Given the description of an element on the screen output the (x, y) to click on. 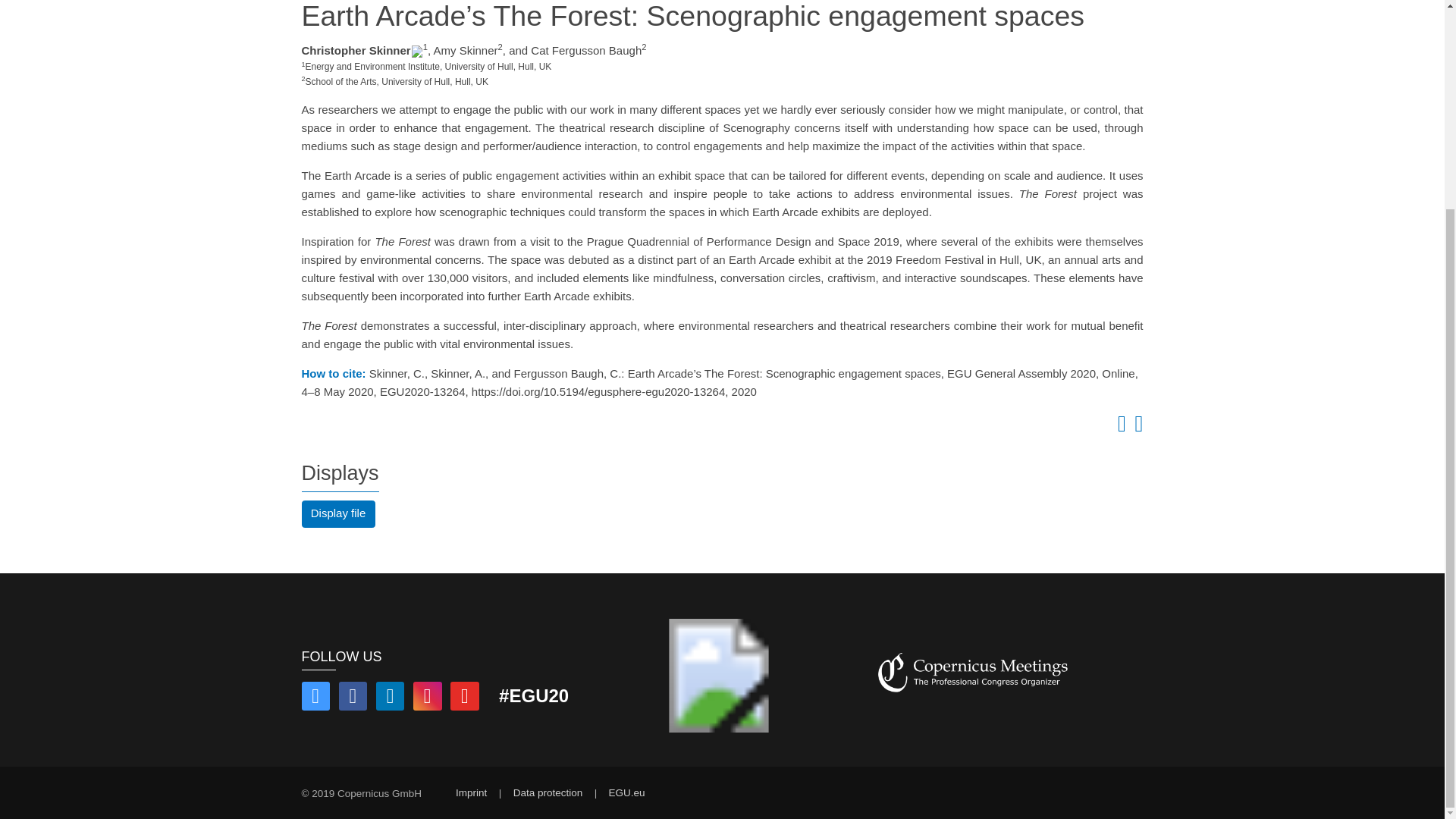
Display file (338, 513)
Find us on LinkedIn (389, 698)
Follow us on Twitter (315, 698)
Copy to clipboard (1118, 427)
Follow us on Facebook (353, 698)
Find us on Instagram (427, 698)
Find us on YouTube (464, 698)
Open QR code linking to abstract URL (1135, 427)
